Given the description of an element on the screen output the (x, y) to click on. 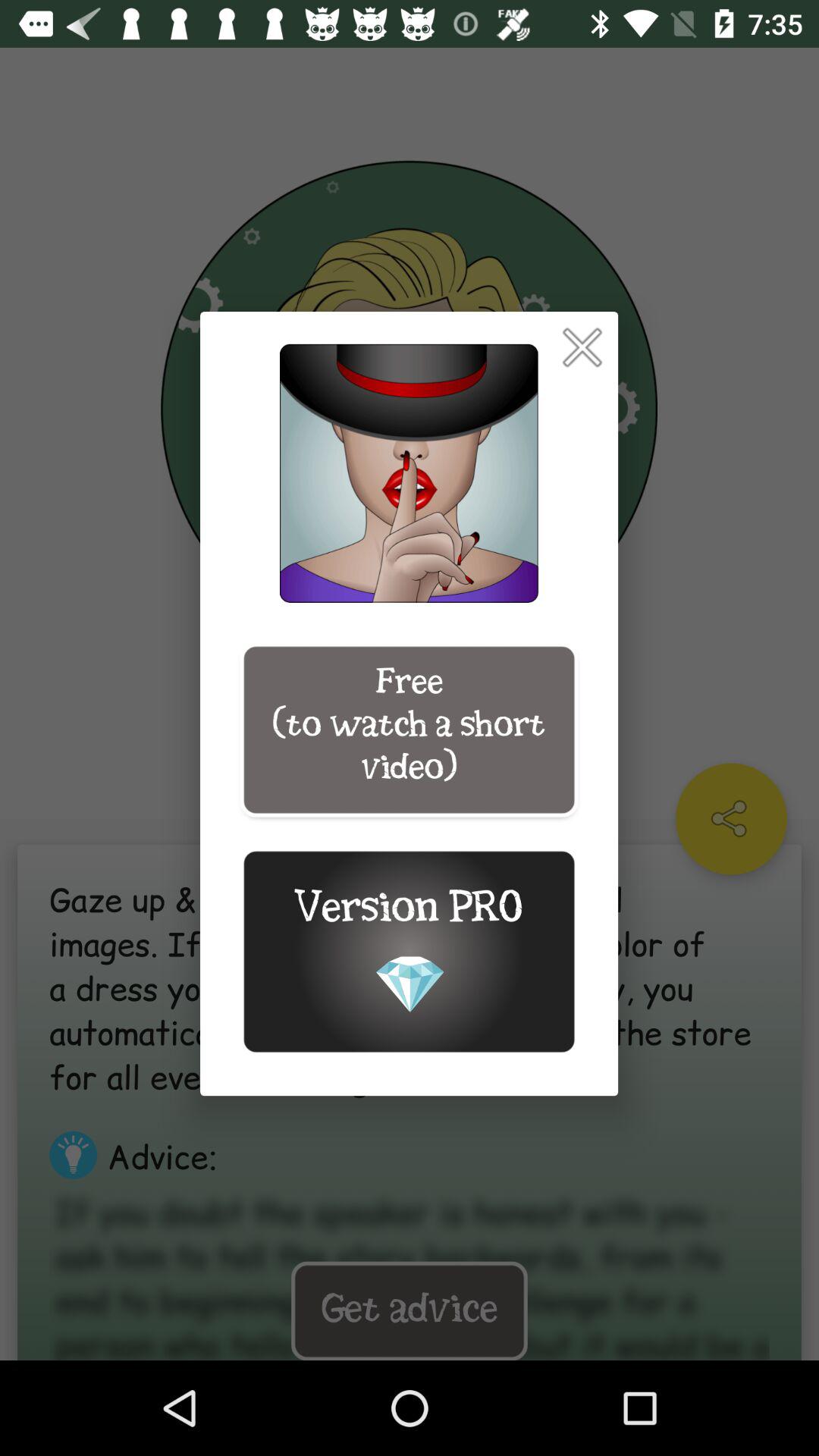
watch a short video to continue for free or go pro (582, 347)
